Given the description of an element on the screen output the (x, y) to click on. 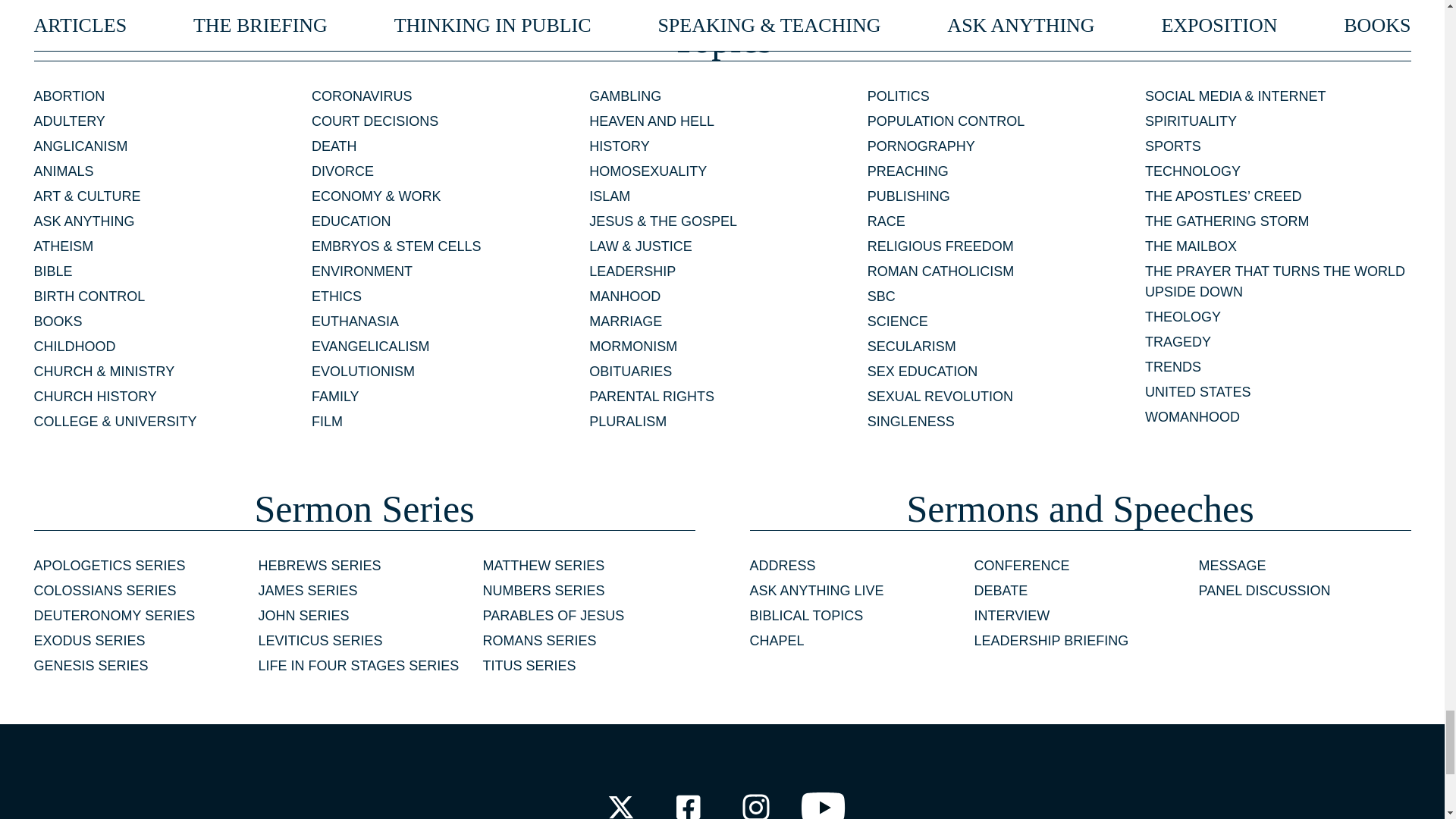
Check out our Youtube Channel (822, 801)
Check out our Instagram Profile (755, 801)
Check out our X Profile (620, 801)
Check out our Facebook Profile (687, 801)
